Given the description of an element on the screen output the (x, y) to click on. 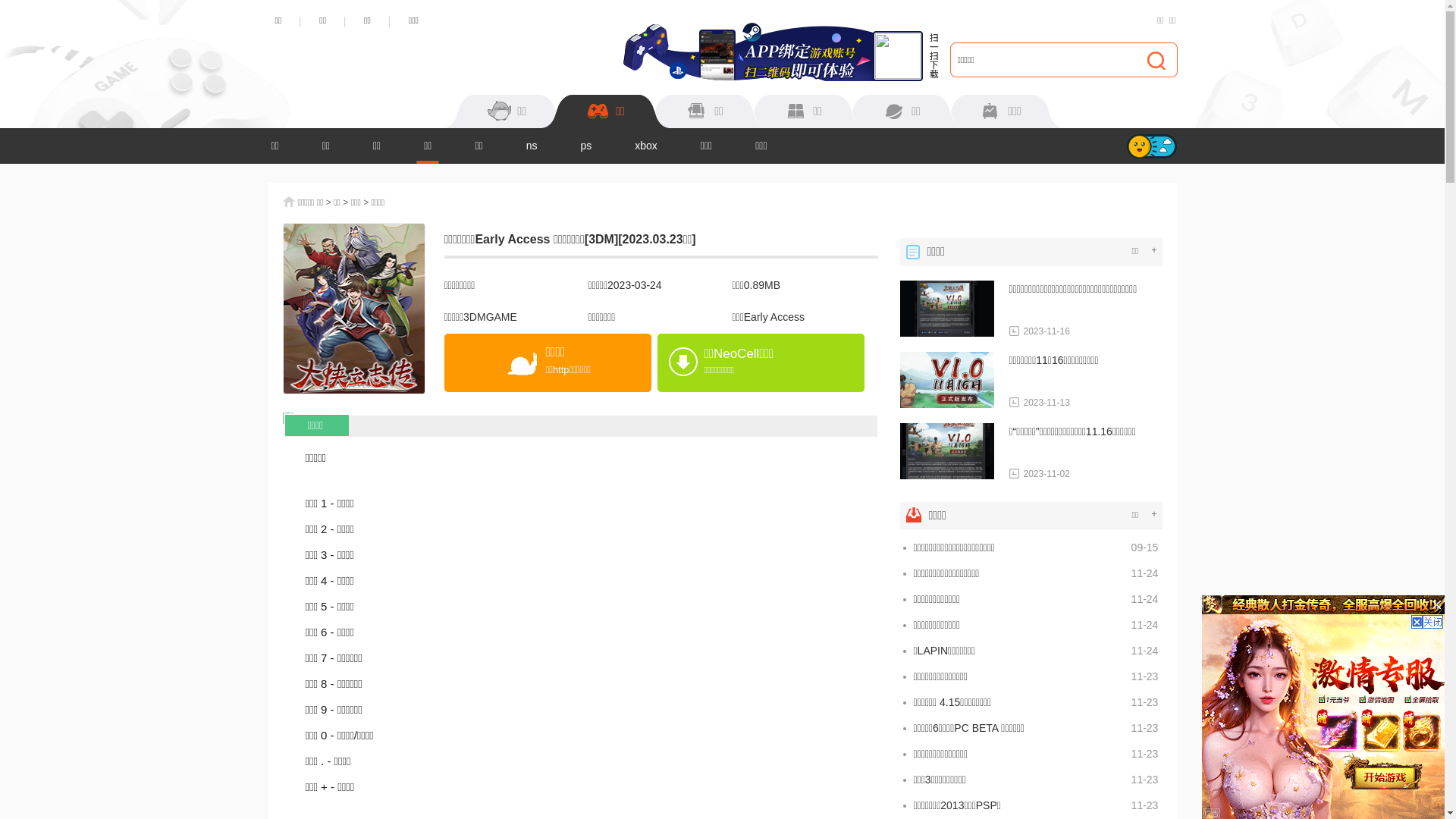
xbox Element type: text (645, 145)
ps Element type: text (585, 145)
ns Element type: text (531, 145)
